Given the description of an element on the screen output the (x, y) to click on. 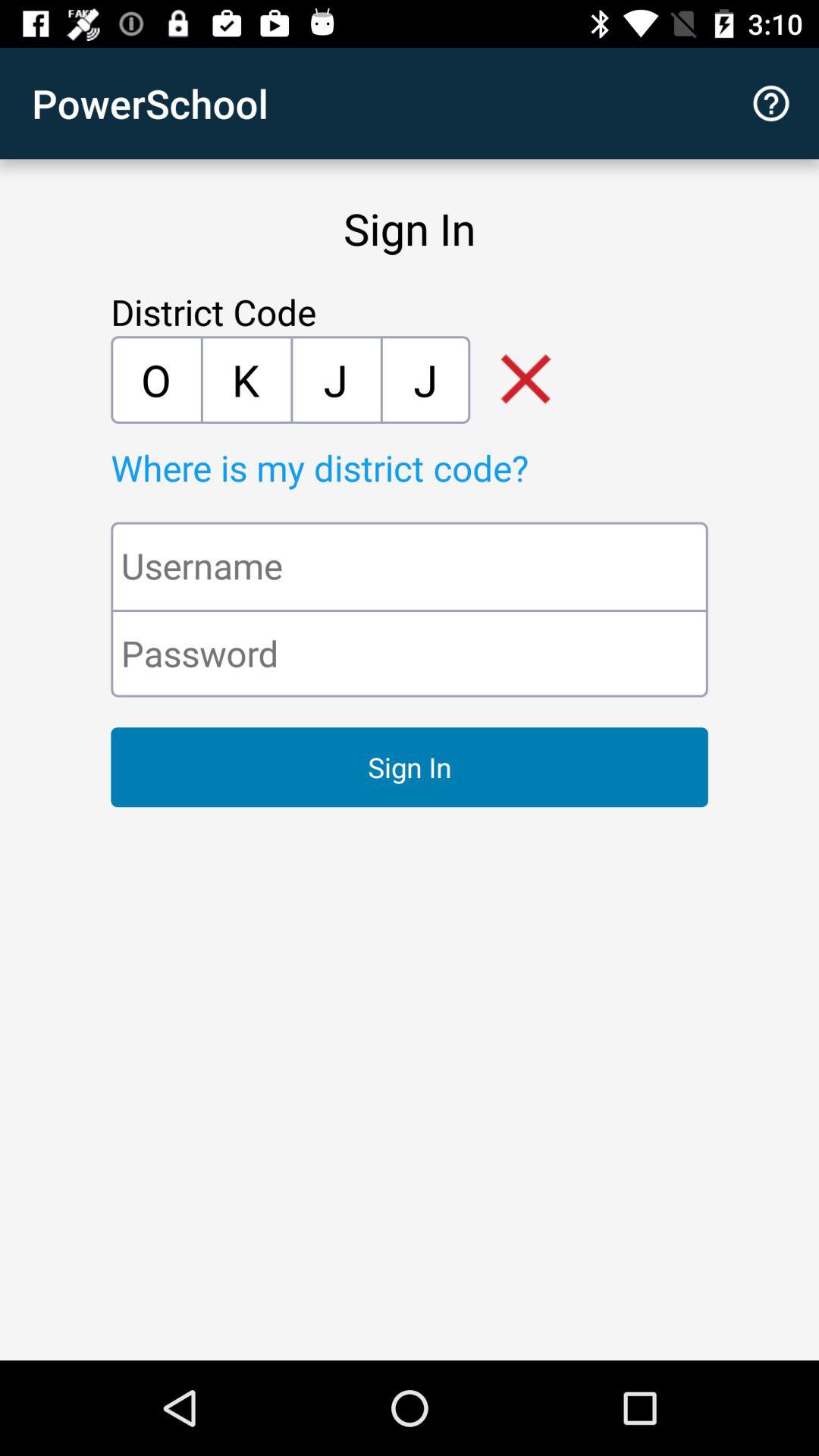
open the icon above the sign in (409, 653)
